Given the description of an element on the screen output the (x, y) to click on. 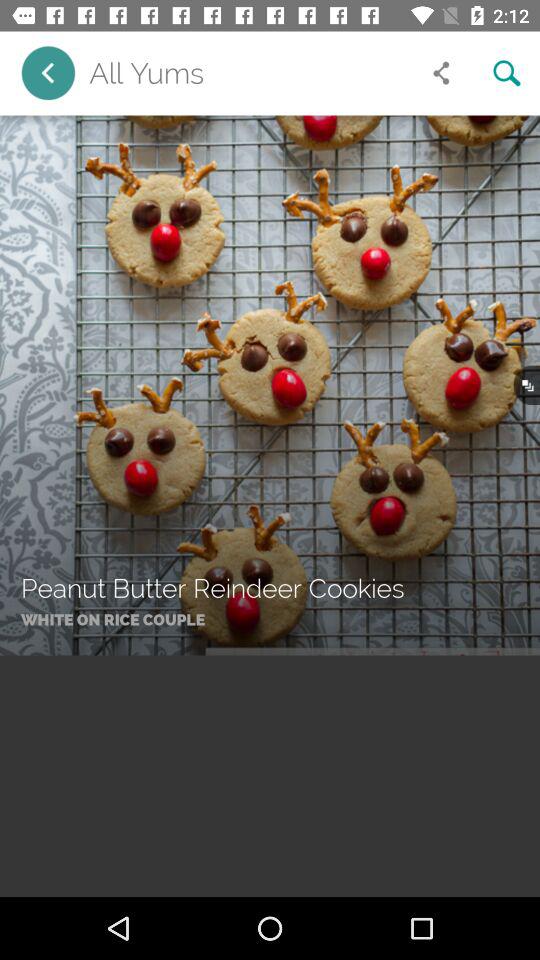
turn off icon next to the all yums item (441, 73)
